Given the description of an element on the screen output the (x, y) to click on. 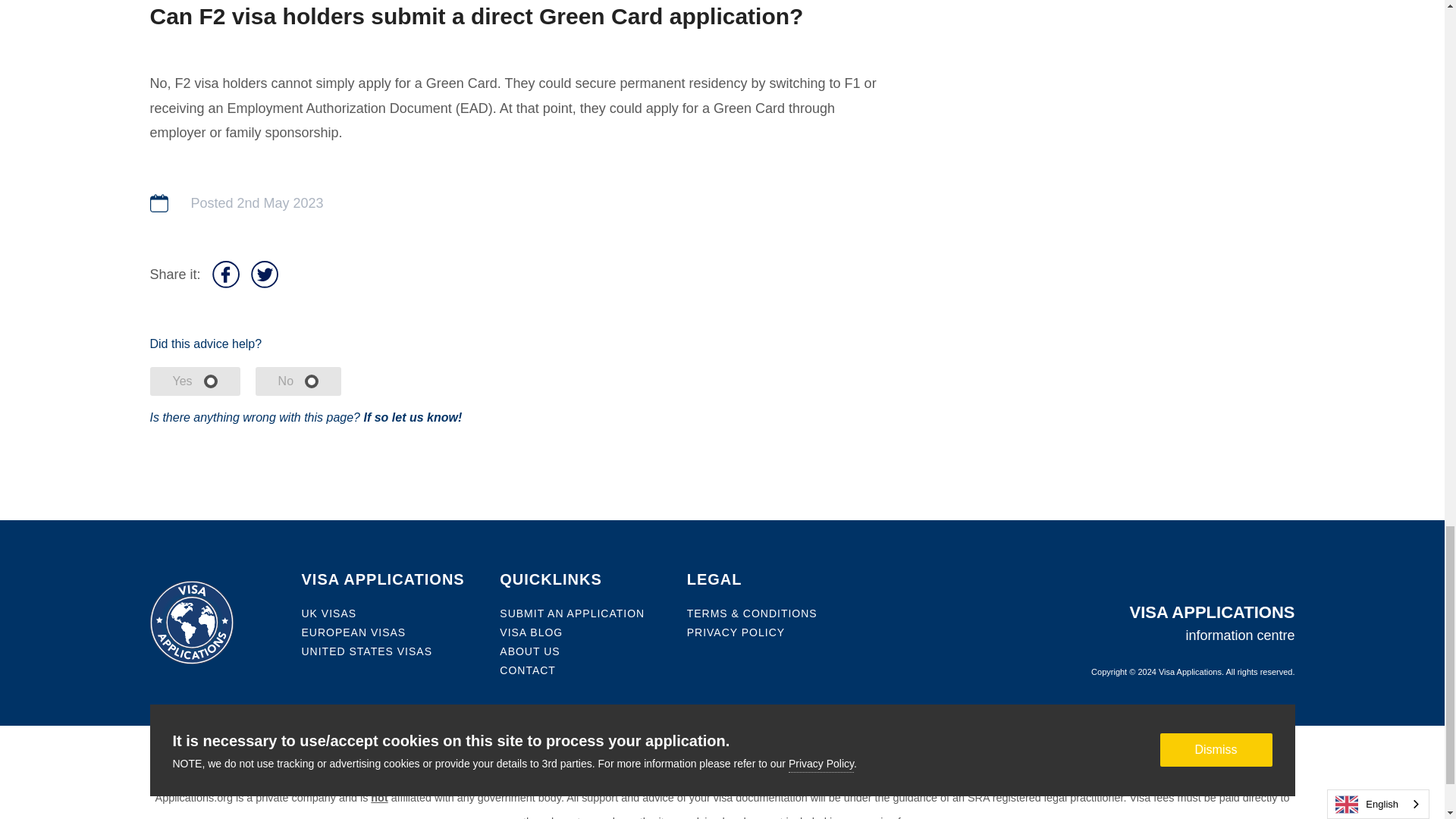
UNITED STATES VISAS (366, 651)
No (298, 380)
Visa-Applications.org (706, 784)
If so let us know! (411, 417)
SUBMIT AN APPLICATION (572, 612)
ABOUT US (529, 651)
UK VISAS (328, 612)
CONTACT (527, 670)
Yes (194, 380)
VISA BLOG (530, 632)
Share on Twitter (264, 274)
PRIVACY POLICY (735, 632)
Share on Facebook (226, 274)
Visa Applications (1189, 671)
EUROPEAN VISAS (353, 632)
